Given the description of an element on the screen output the (x, y) to click on. 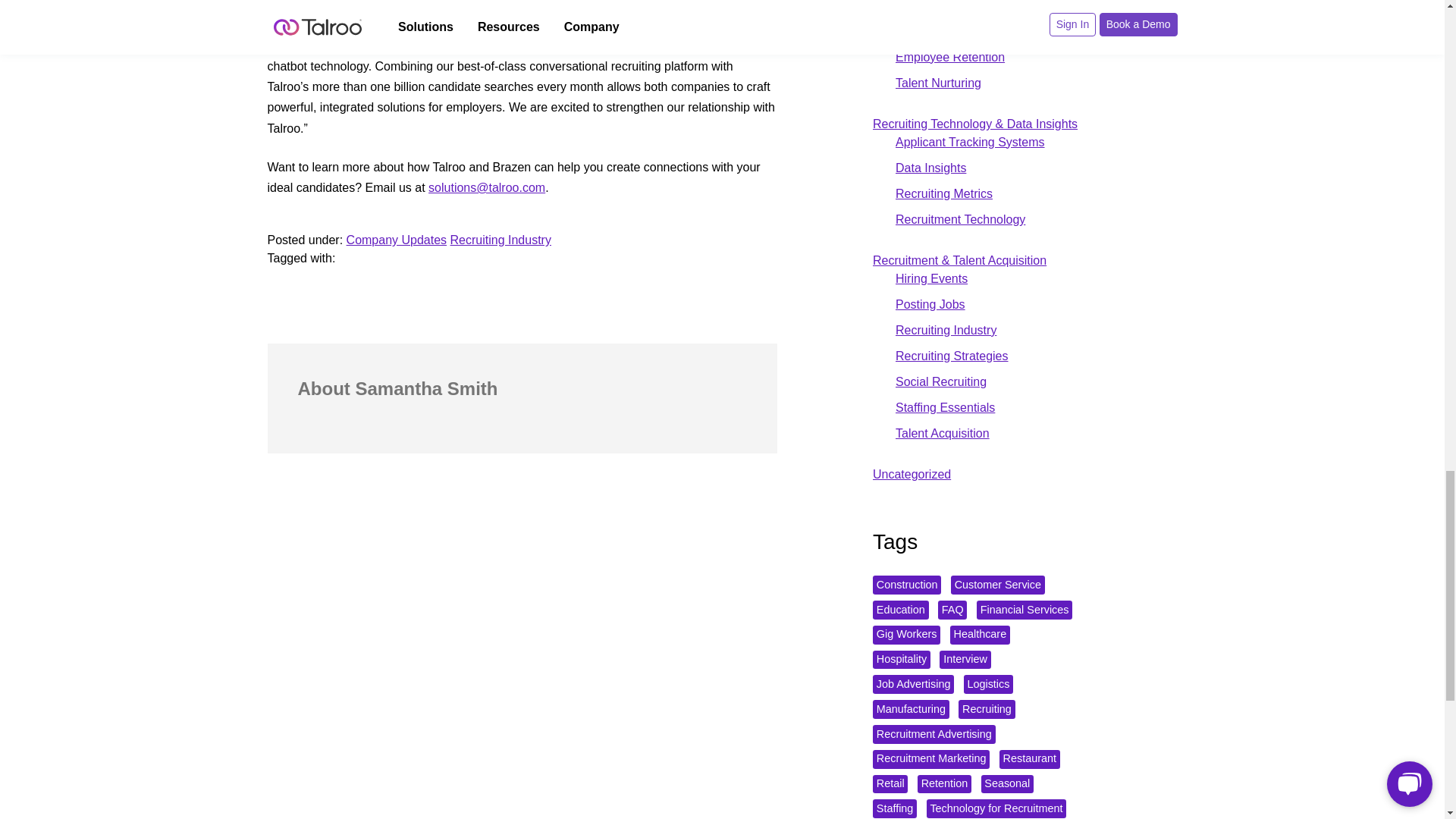
Healthcare Tag (980, 634)
Logistics Tag (988, 683)
Financial Services Tag (1023, 609)
Customer Service Tag (997, 584)
FAQ Tag (951, 609)
Retail Tag (889, 783)
Recruitment Advertising Tag (933, 733)
Interview Tag (964, 659)
Hospitality Tag (901, 659)
Recruiting Tag (986, 709)
Education Tag (900, 609)
Construction Tag (906, 584)
Job Advertising Tag (912, 683)
Restaurant Tag (1028, 759)
Manufacturing Tag (910, 709)
